Given the description of an element on the screen output the (x, y) to click on. 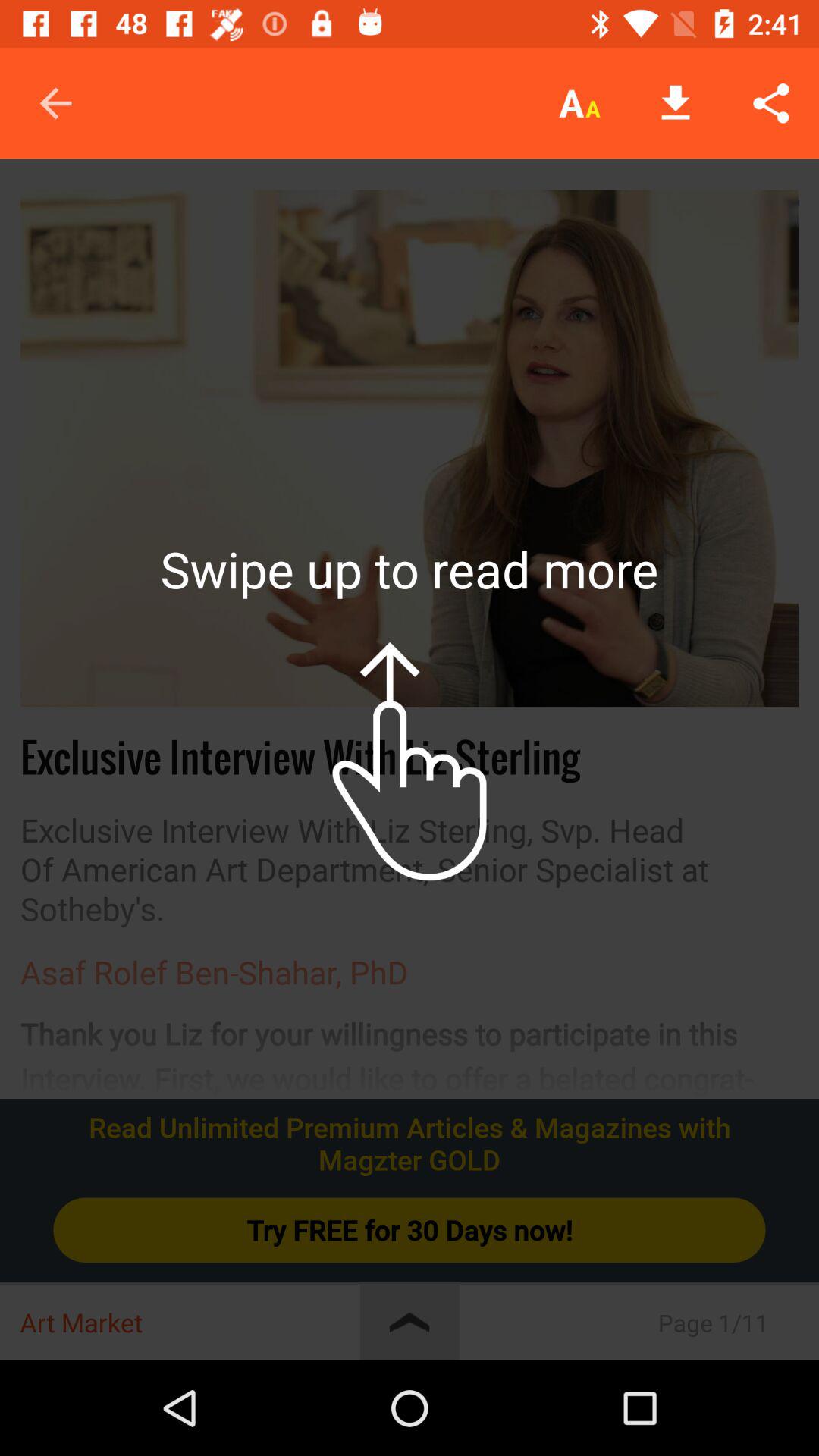
turn off icon at the top left corner (55, 103)
